Given the description of an element on the screen output the (x, y) to click on. 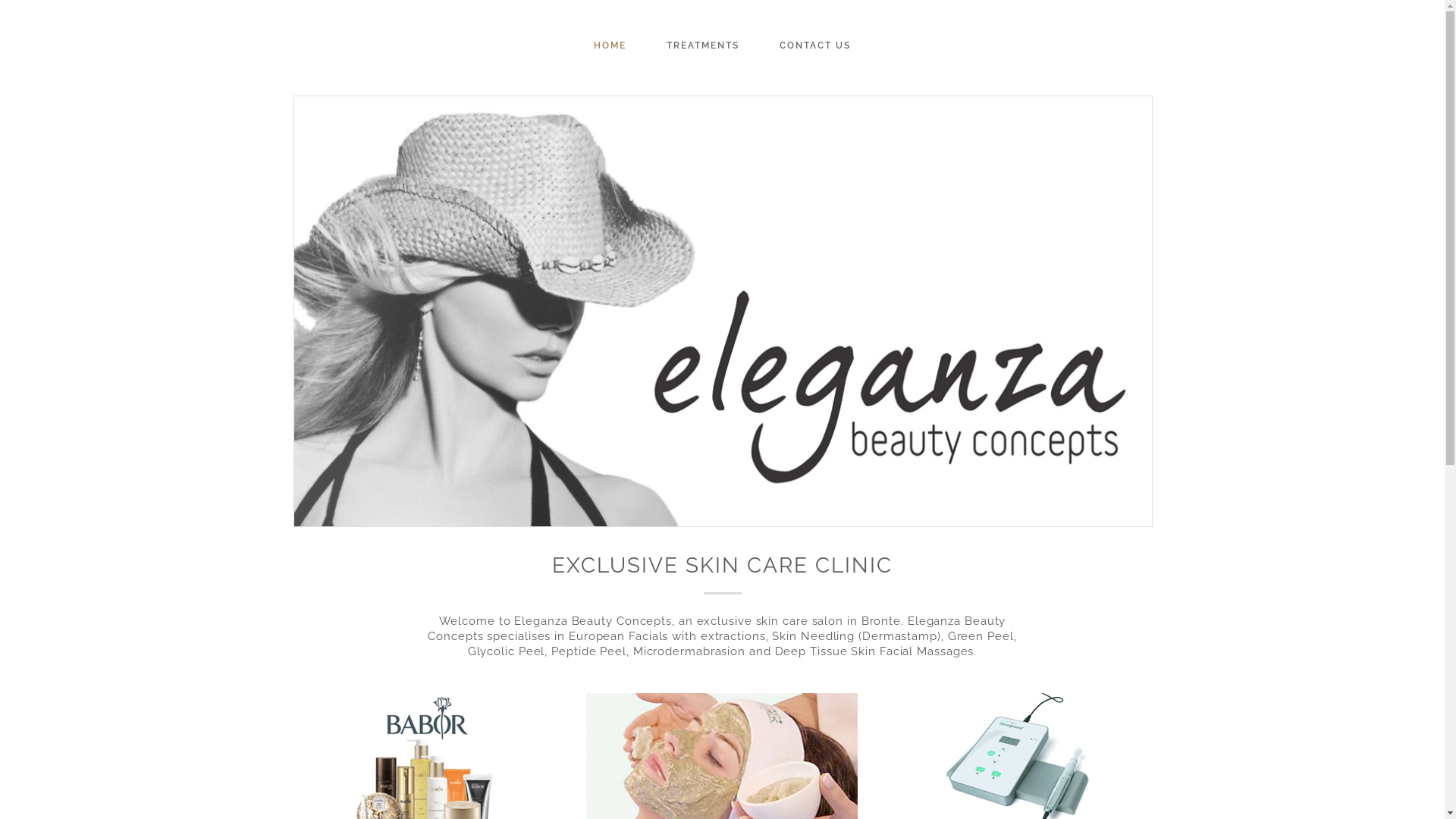
CONTACT US Element type: text (815, 45)
TREATMENTS Element type: text (702, 45)
HOME Element type: text (609, 45)
